Given the description of an element on the screen output the (x, y) to click on. 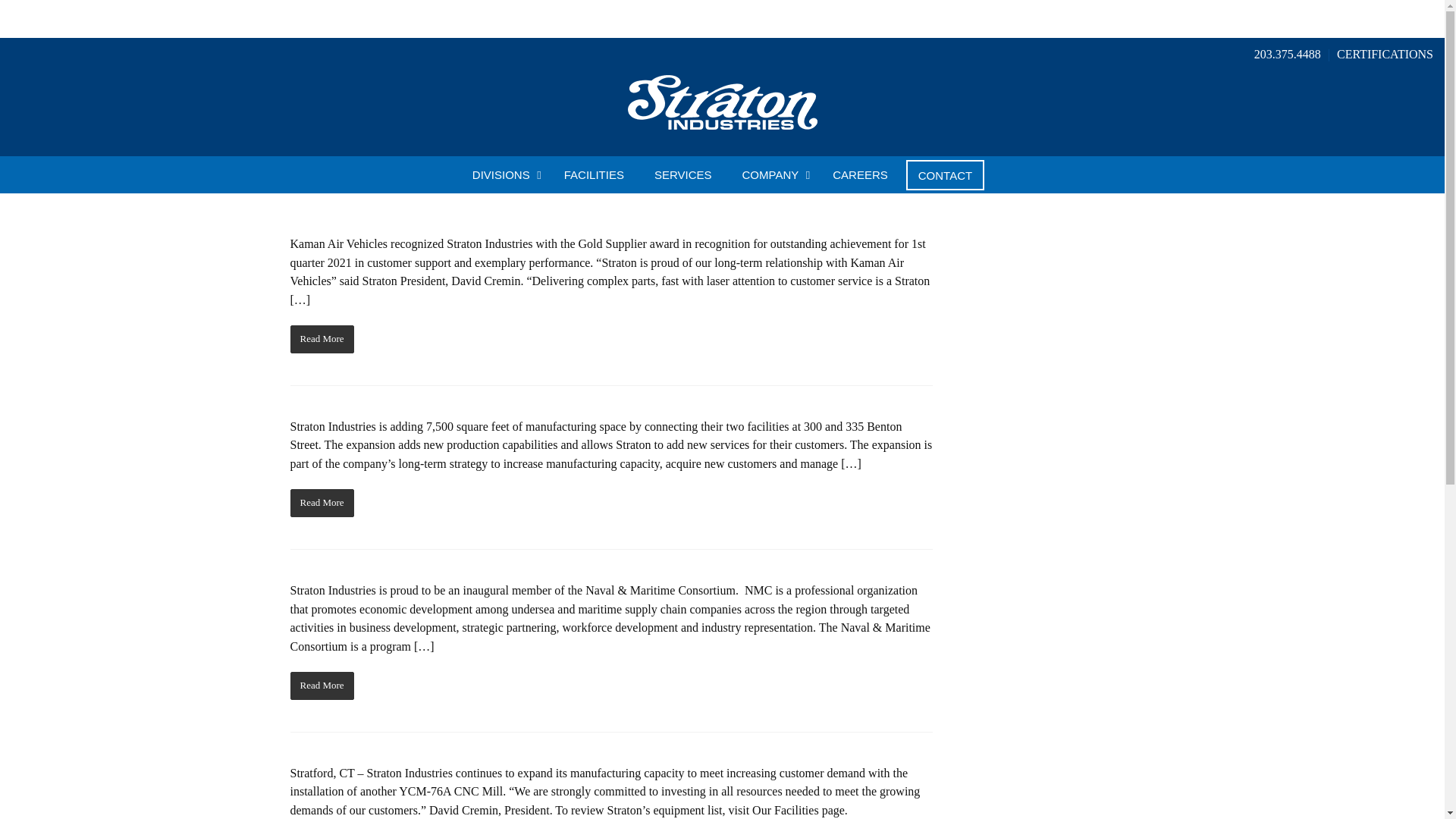
Facilities (593, 175)
FACILITIES (593, 175)
SERVICES (682, 175)
Certifications (1385, 54)
COMPANY (771, 175)
DIVISIONS (721, 175)
203.375.4488 (502, 175)
CERTIFICATIONS (1287, 54)
